Given the description of an element on the screen output the (x, y) to click on. 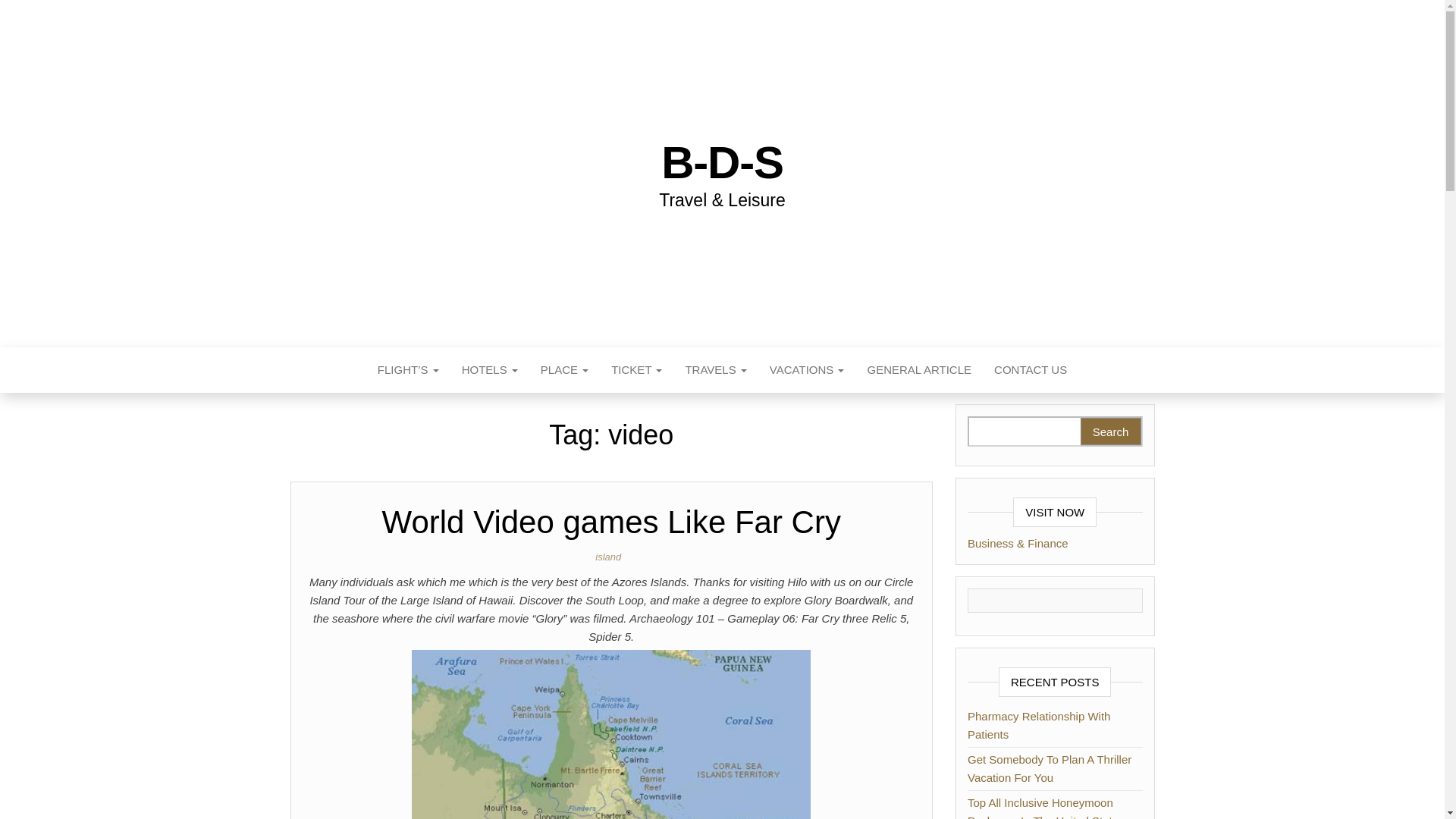
Place (564, 370)
Search (1110, 431)
Hotels (489, 370)
World Video games Like Far Cry (611, 521)
TICKET (635, 370)
Flight's (407, 370)
B-D-S (722, 162)
PLACE (564, 370)
Ticket (635, 370)
HOTELS (489, 370)
island (611, 556)
CONTACT US (1030, 370)
VACATIONS (807, 370)
GENERAL ARTICLE (919, 370)
TRAVELS (714, 370)
